Given the description of an element on the screen output the (x, y) to click on. 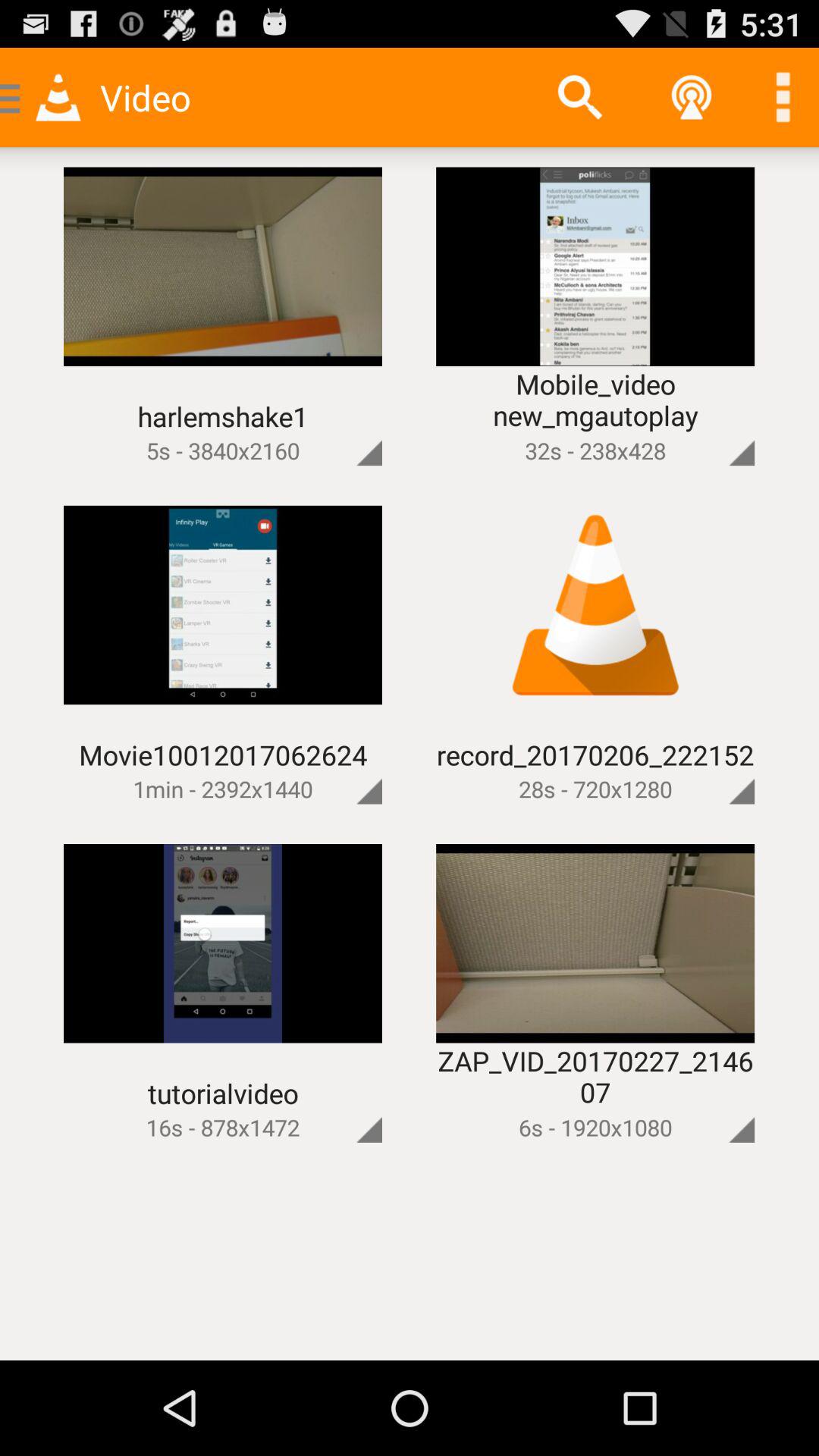
open video (715, 765)
